Given the description of an element on the screen output the (x, y) to click on. 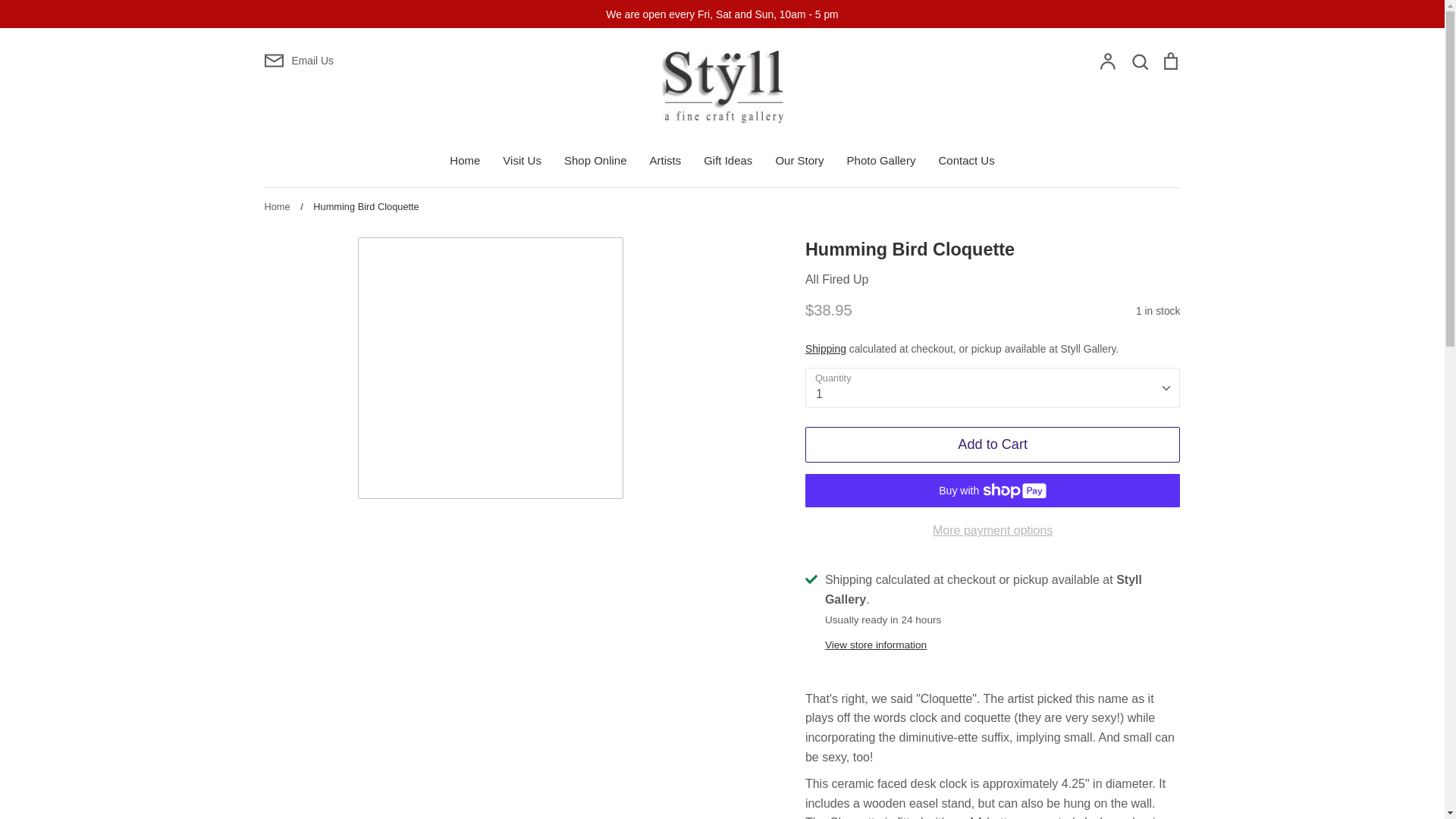
Search (1139, 61)
Shop Online (595, 160)
Email Us (414, 60)
Cart (1169, 61)
Home (464, 160)
Account (1107, 61)
1 (992, 386)
Visit Us (521, 160)
